Given the description of an element on the screen output the (x, y) to click on. 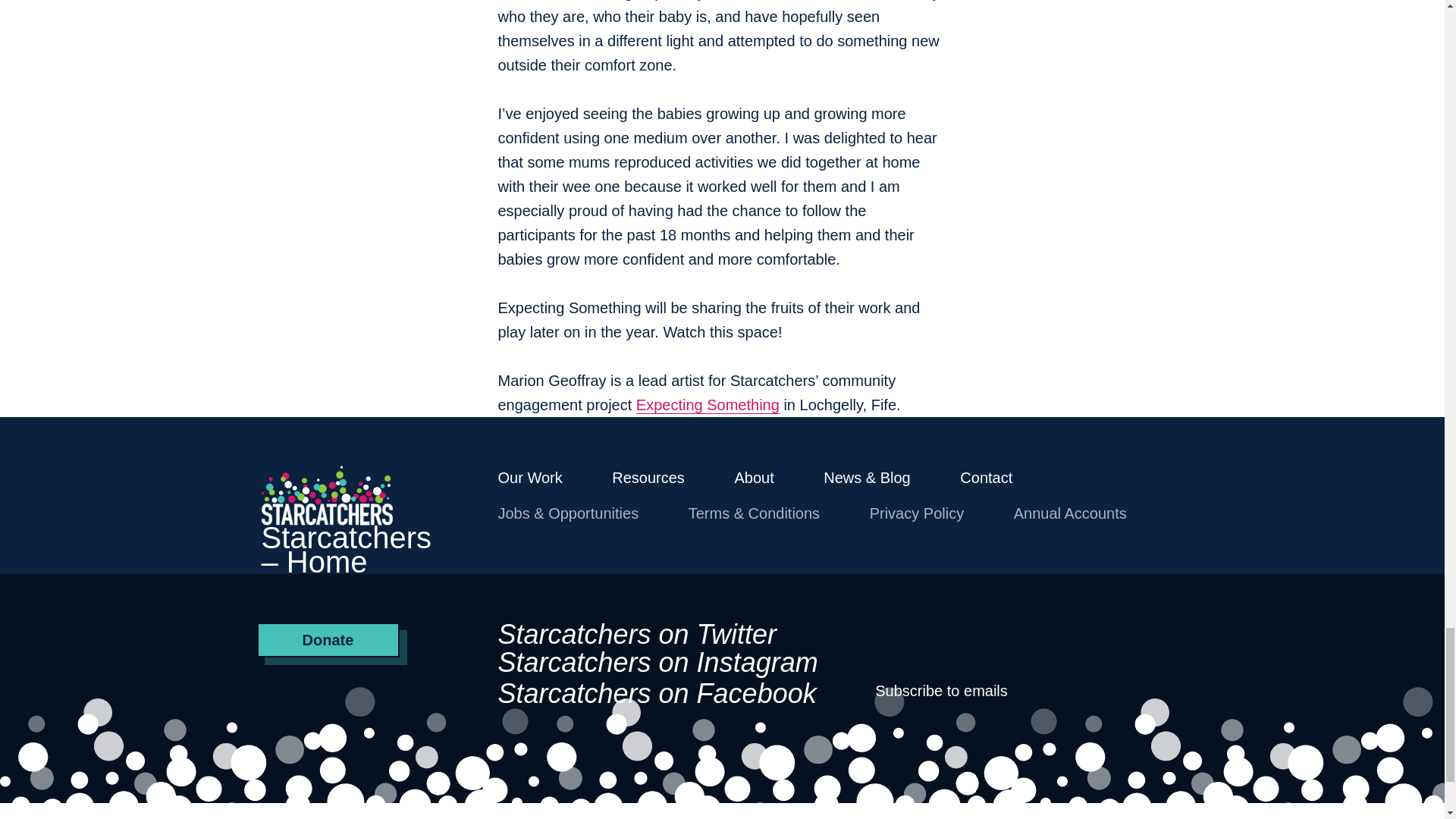
Expecting Something (707, 405)
Donate (327, 639)
Contact (985, 477)
Privacy Policy (916, 513)
Annual Accounts (1069, 513)
Our Work (529, 477)
Resources (647, 477)
About (753, 477)
